Given the description of an element on the screen output the (x, y) to click on. 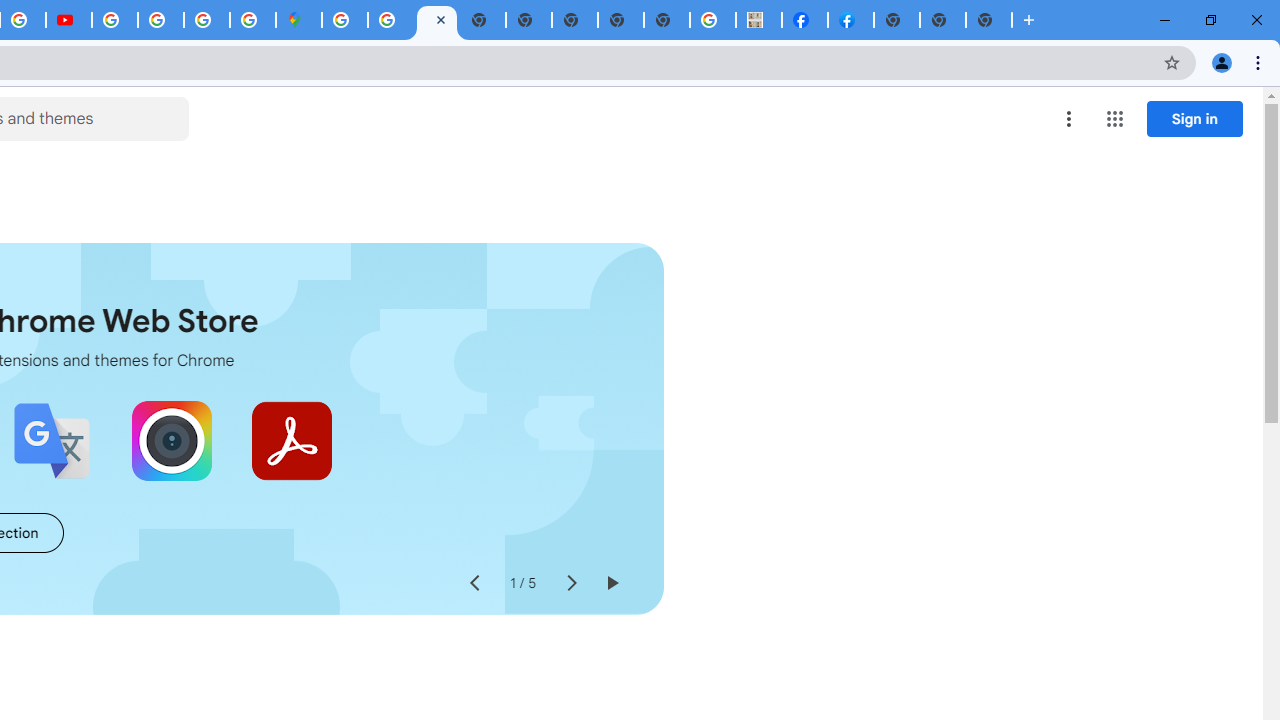
Subscriptions - YouTube (69, 20)
More options menu (1069, 118)
Adobe Acrobat: PDF edit, convert, sign tools (291, 440)
New Tab (989, 20)
Google Maps (299, 20)
How Chrome protects your passwords - Google Chrome Help (115, 20)
MILEY CYRUS. (759, 20)
Previous slide (474, 583)
Google apps (1114, 118)
